Given the description of an element on the screen output the (x, y) to click on. 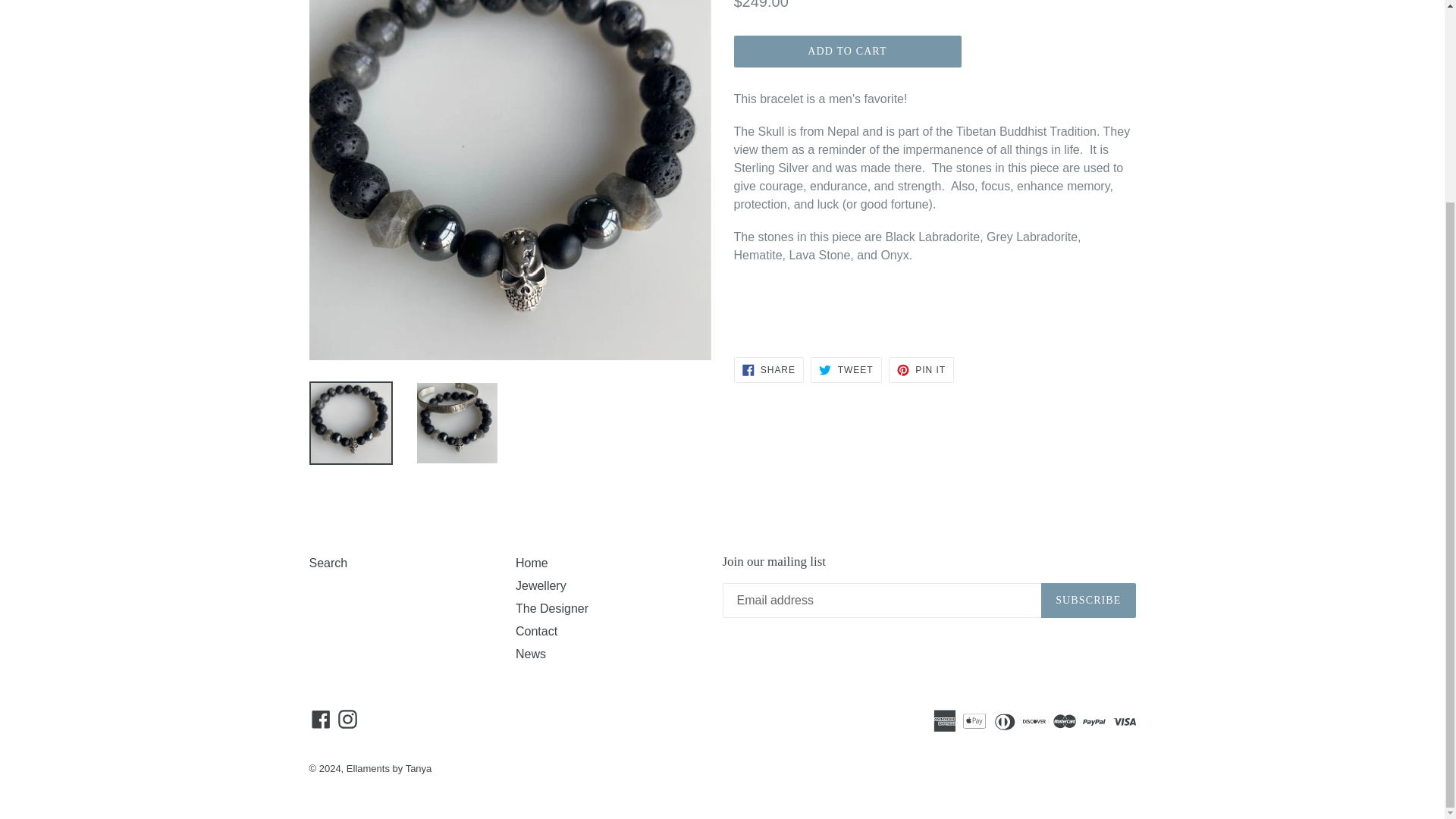
Share on Facebook (768, 370)
Contact (536, 631)
Jewellery (920, 370)
SUBSCRIBE (540, 585)
Facebook (1088, 600)
Pin on Pinterest (845, 370)
ADD TO CART (320, 719)
News (920, 370)
Tweet on Twitter (846, 51)
Ellaments by Tanya on Facebook (530, 653)
Instagram (845, 370)
Home (320, 719)
Ellaments by Tanya on Instagram (347, 719)
